Given the description of an element on the screen output the (x, y) to click on. 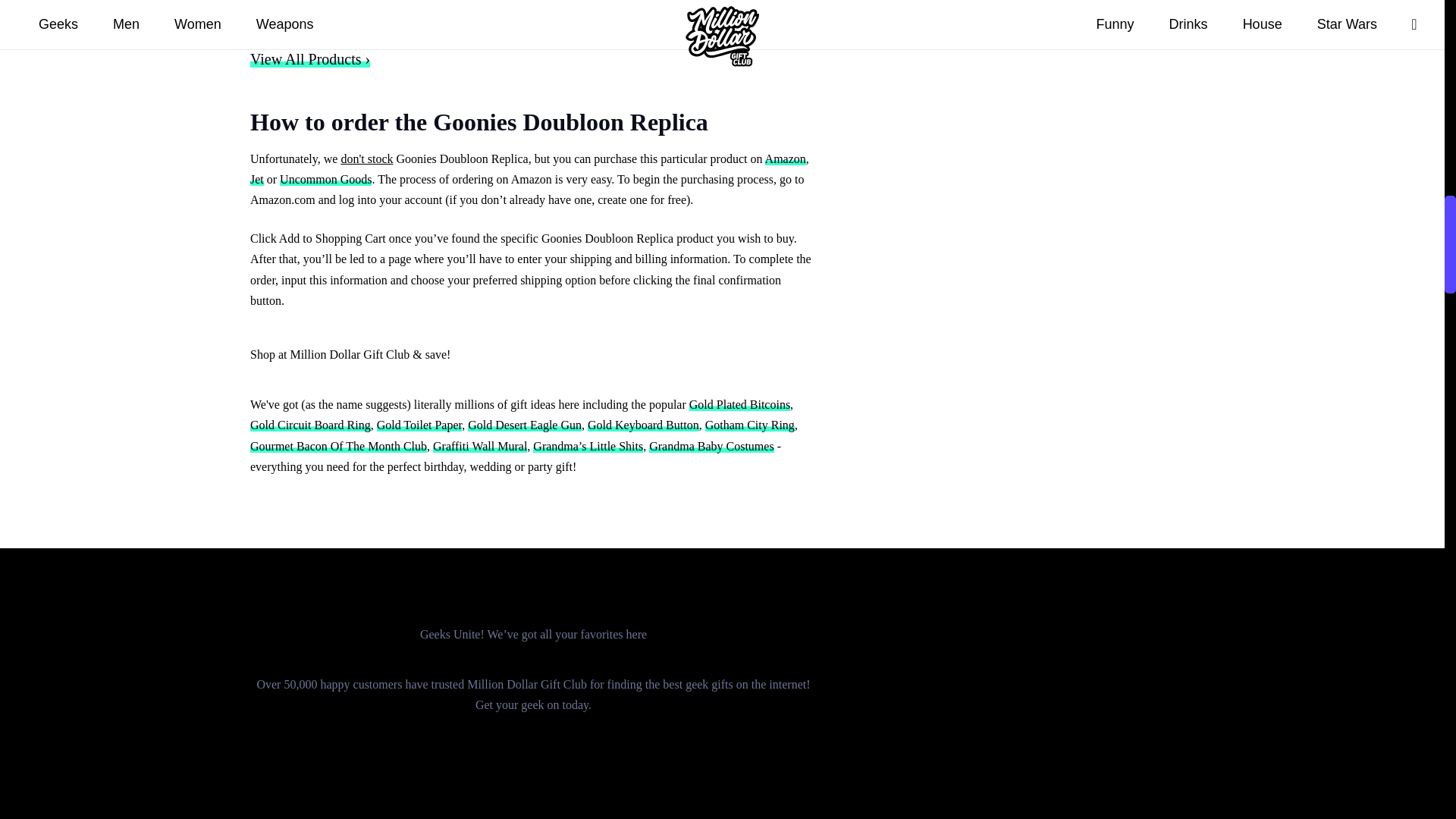
Gold Desert Eagle Gun (523, 424)
Uncommon Goods (325, 178)
Gold Circuit Board Ring (310, 424)
Gold Toilet Paper (420, 424)
Gourmet Bacon Of The Month Club (338, 445)
Gotham City Ring (749, 424)
Jet (256, 178)
Gold Keyboard Button (643, 424)
Gold Plated Bitcoins (739, 404)
Amazon (785, 158)
